Given the description of an element on the screen output the (x, y) to click on. 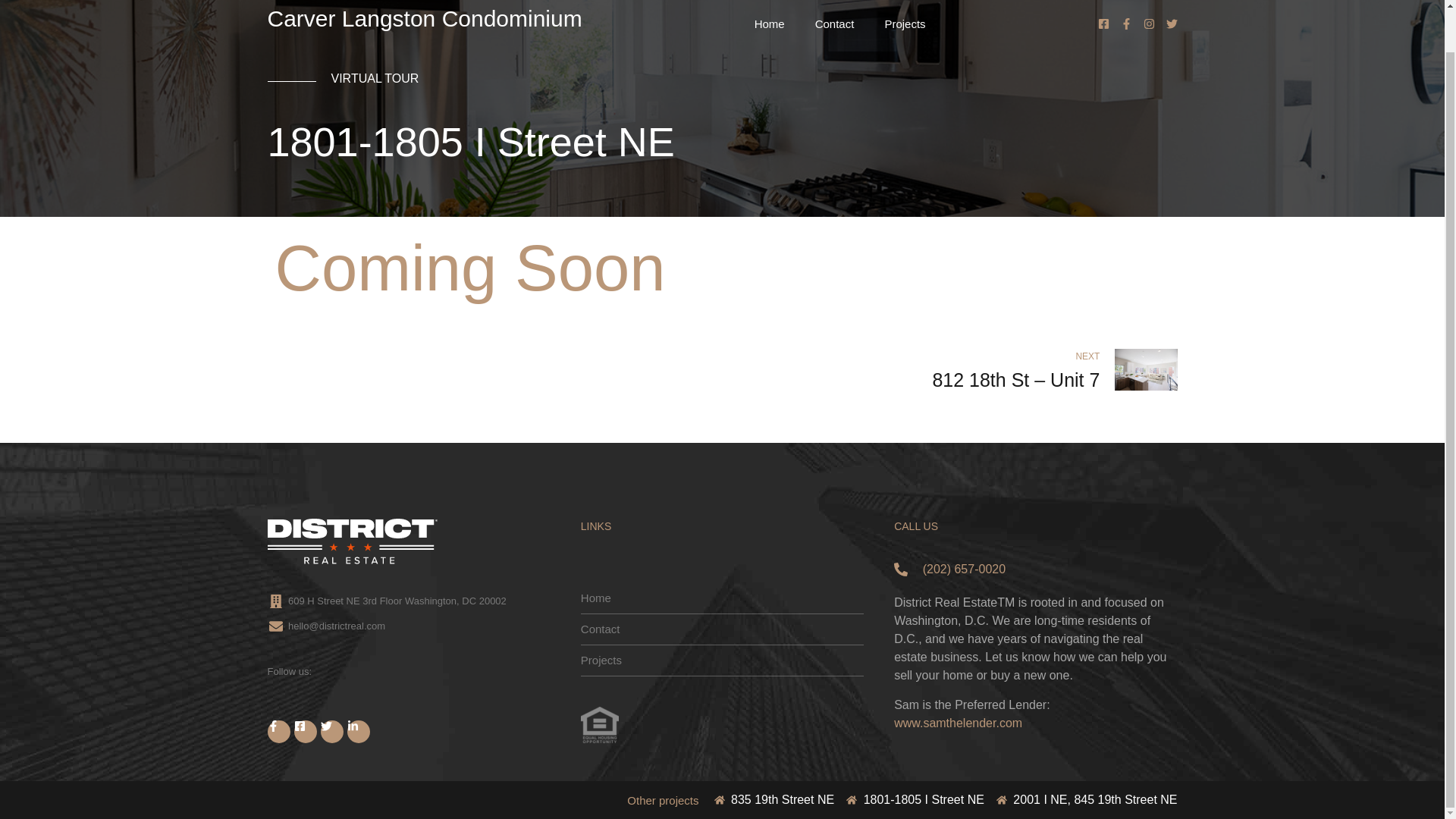
Contact (721, 629)
Contact (834, 23)
Projects (721, 660)
Home (769, 23)
835 19th Street NE (774, 755)
2001 I NE, 845 19th Street NE (1086, 755)
www.samthelender.com (957, 722)
Carver Langston Condominium (423, 18)
Projects (904, 23)
1801-1805 I Street NE (914, 755)
